Given the description of an element on the screen output the (x, y) to click on. 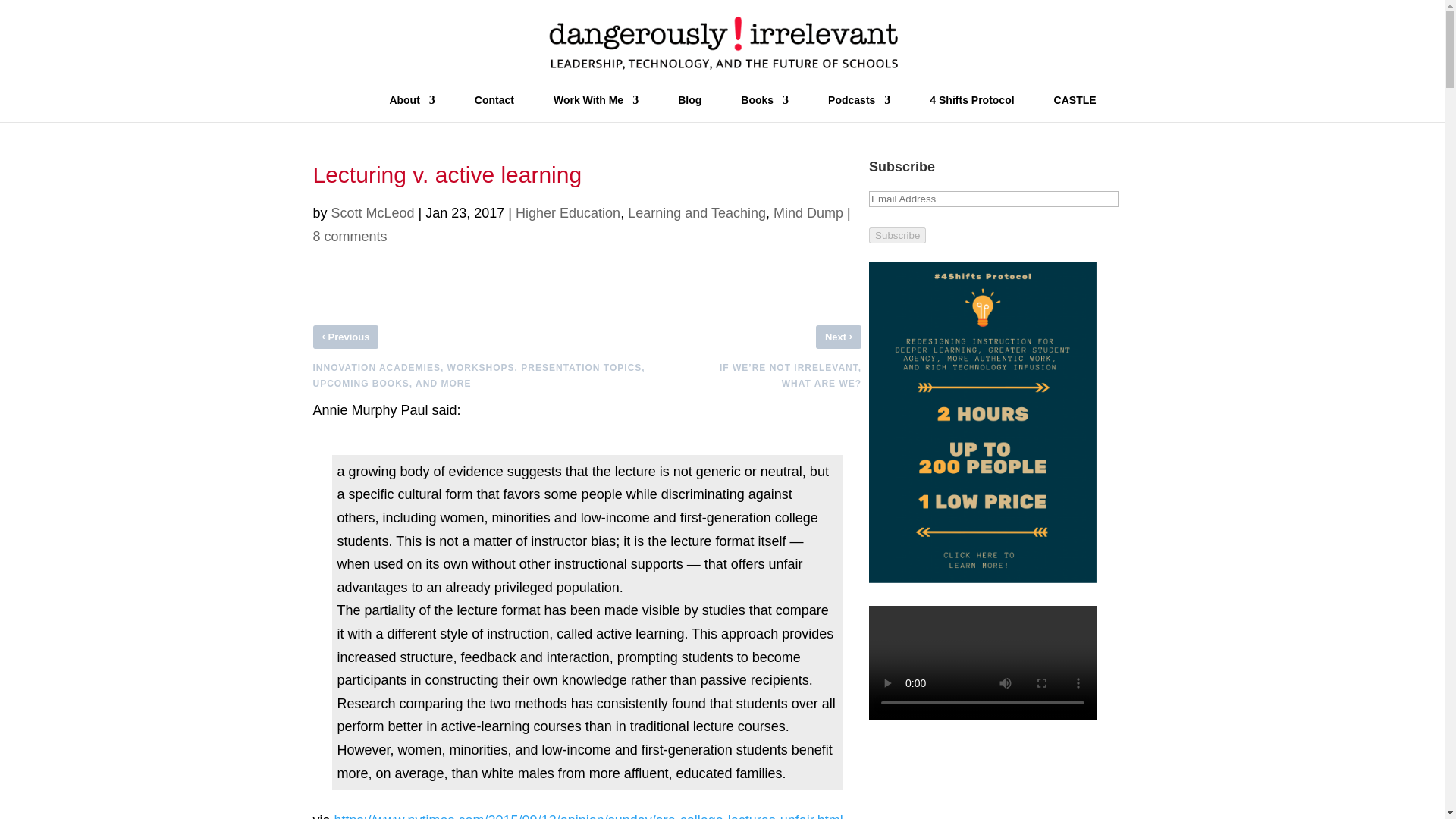
8 comments (350, 236)
Higher Education (567, 212)
Mind Dump (808, 212)
4 Shifts Protocol (971, 108)
Podcasts (858, 108)
Work With Me (596, 108)
Books (765, 108)
CASTLE (1075, 108)
Posts by Scott McLeod (372, 212)
Learning and Teaching (696, 212)
